Given the description of an element on the screen output the (x, y) to click on. 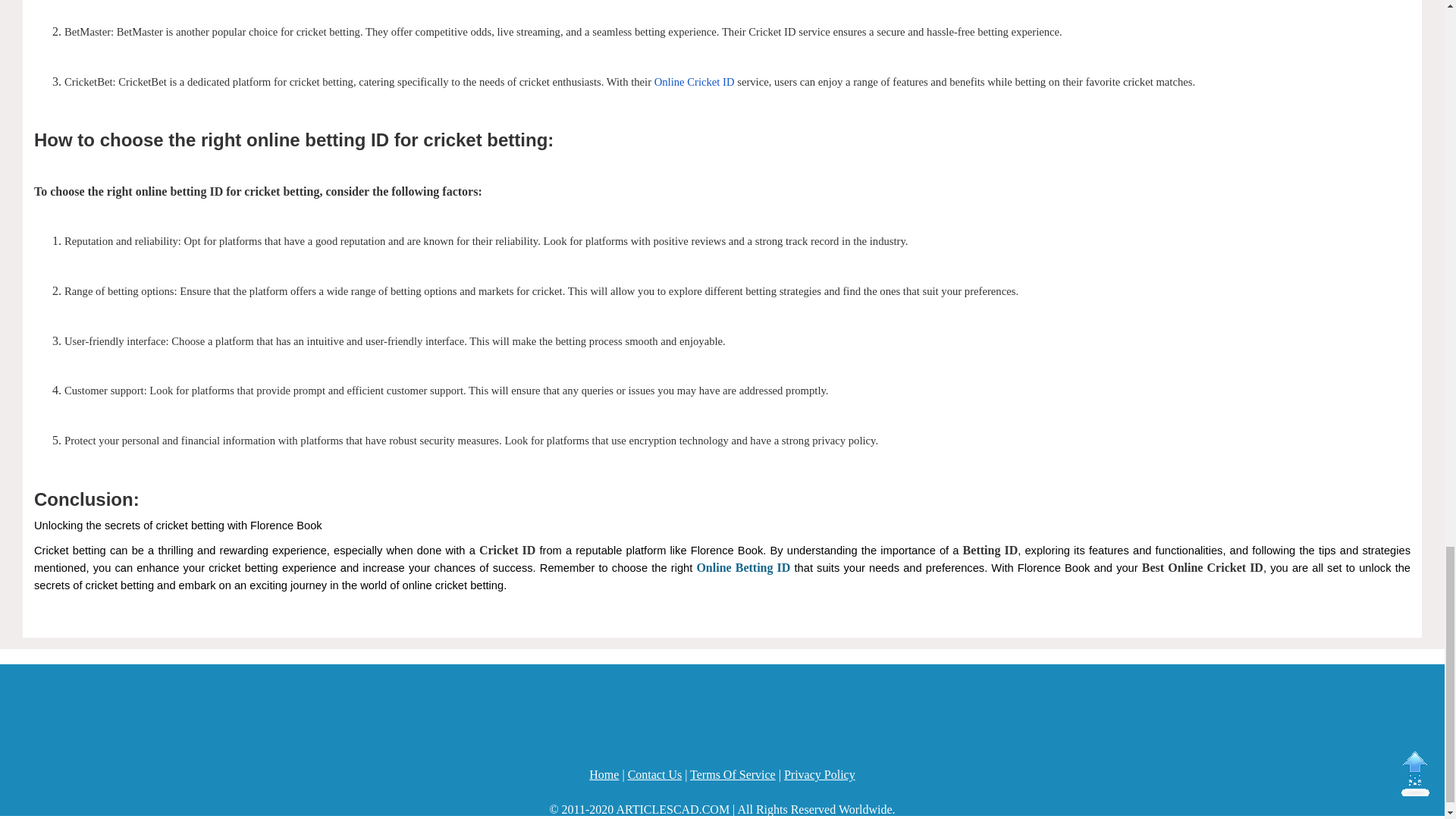
Online Cricket ID (694, 81)
Online Betting ID (742, 567)
Home (603, 774)
Privacy Policy (820, 774)
Contact Us (654, 774)
Terms Of Service (733, 774)
